Given the description of an element on the screen output the (x, y) to click on. 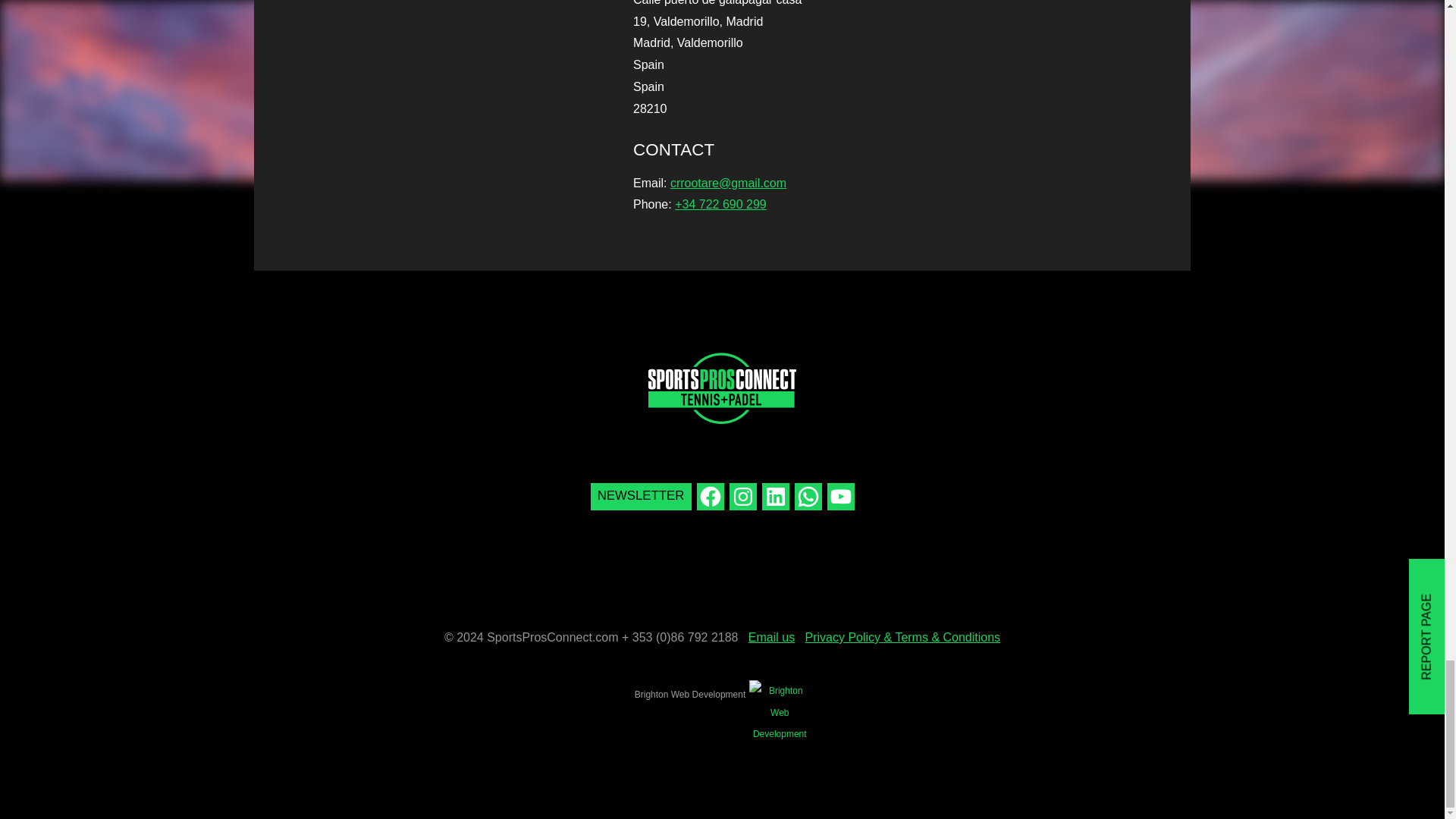
Email us (771, 636)
Instagram (743, 496)
Mail (639, 484)
LinkedIn (775, 496)
WhatsApp (808, 496)
Facebook (709, 496)
YouTube (840, 496)
Brighton Web Development (689, 694)
